Given the description of an element on the screen output the (x, y) to click on. 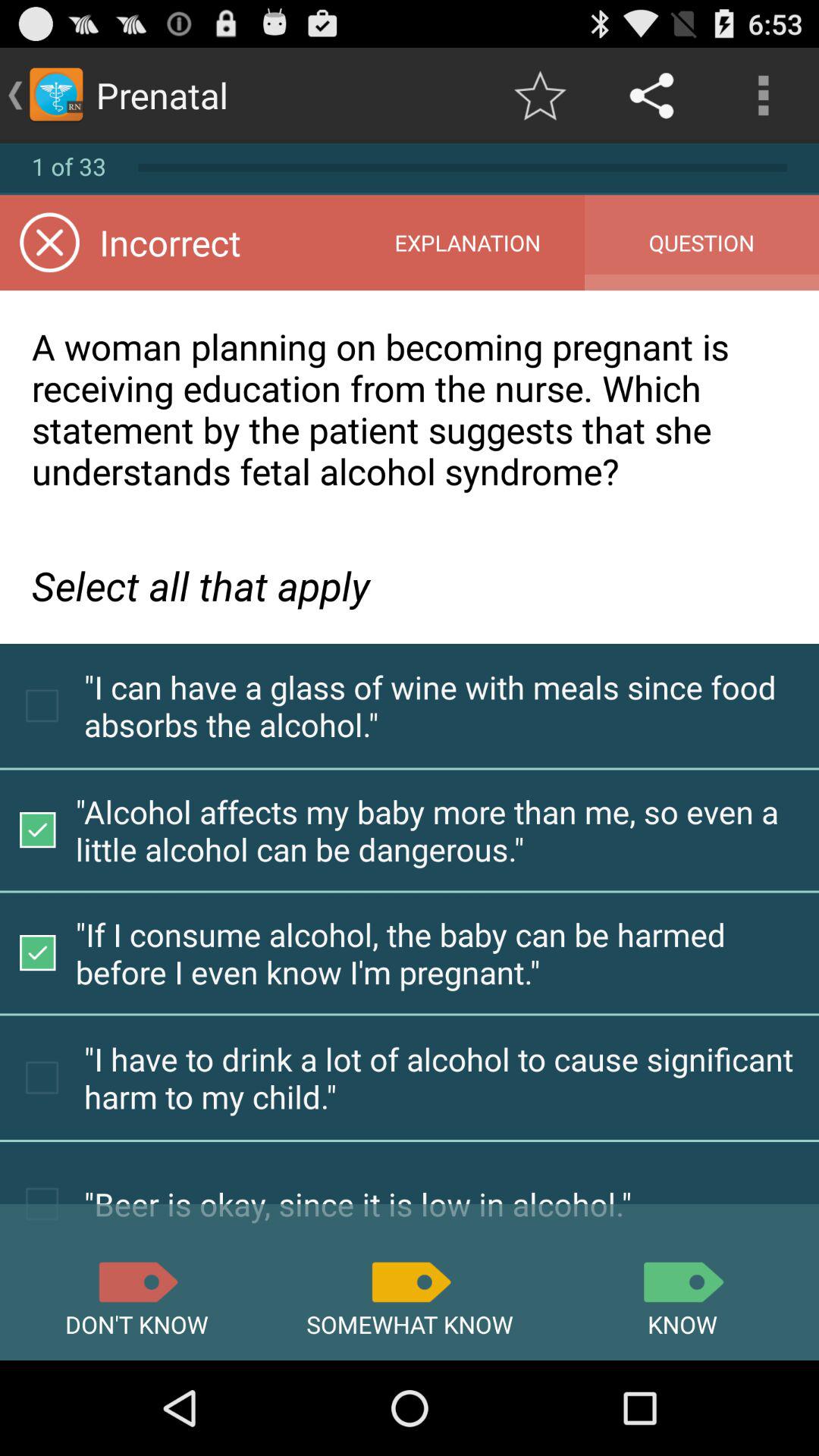
press icon below beer is okay item (136, 1281)
